Given the description of an element on the screen output the (x, y) to click on. 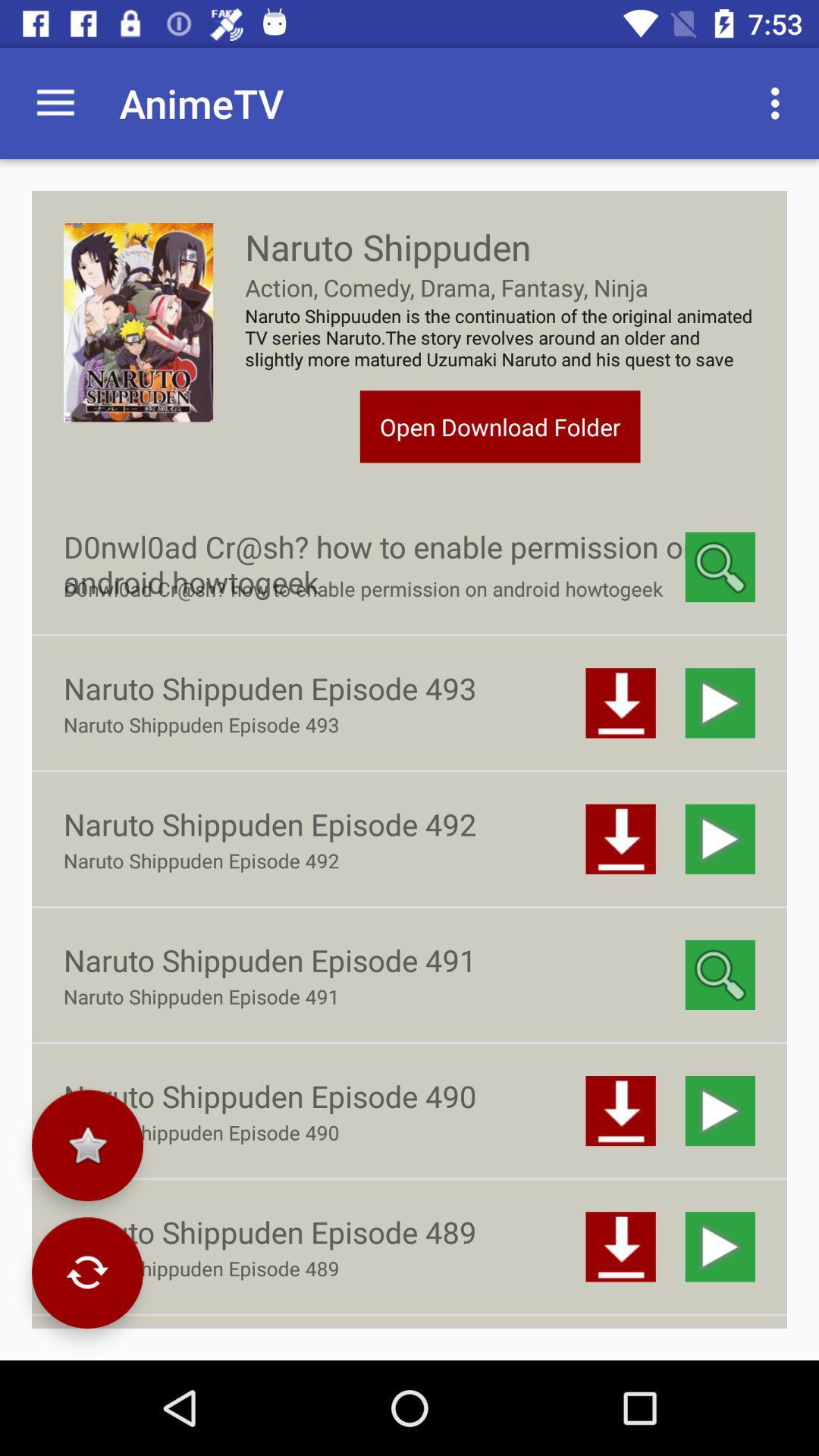
flip until the open download folder item (500, 426)
